Given the description of an element on the screen output the (x, y) to click on. 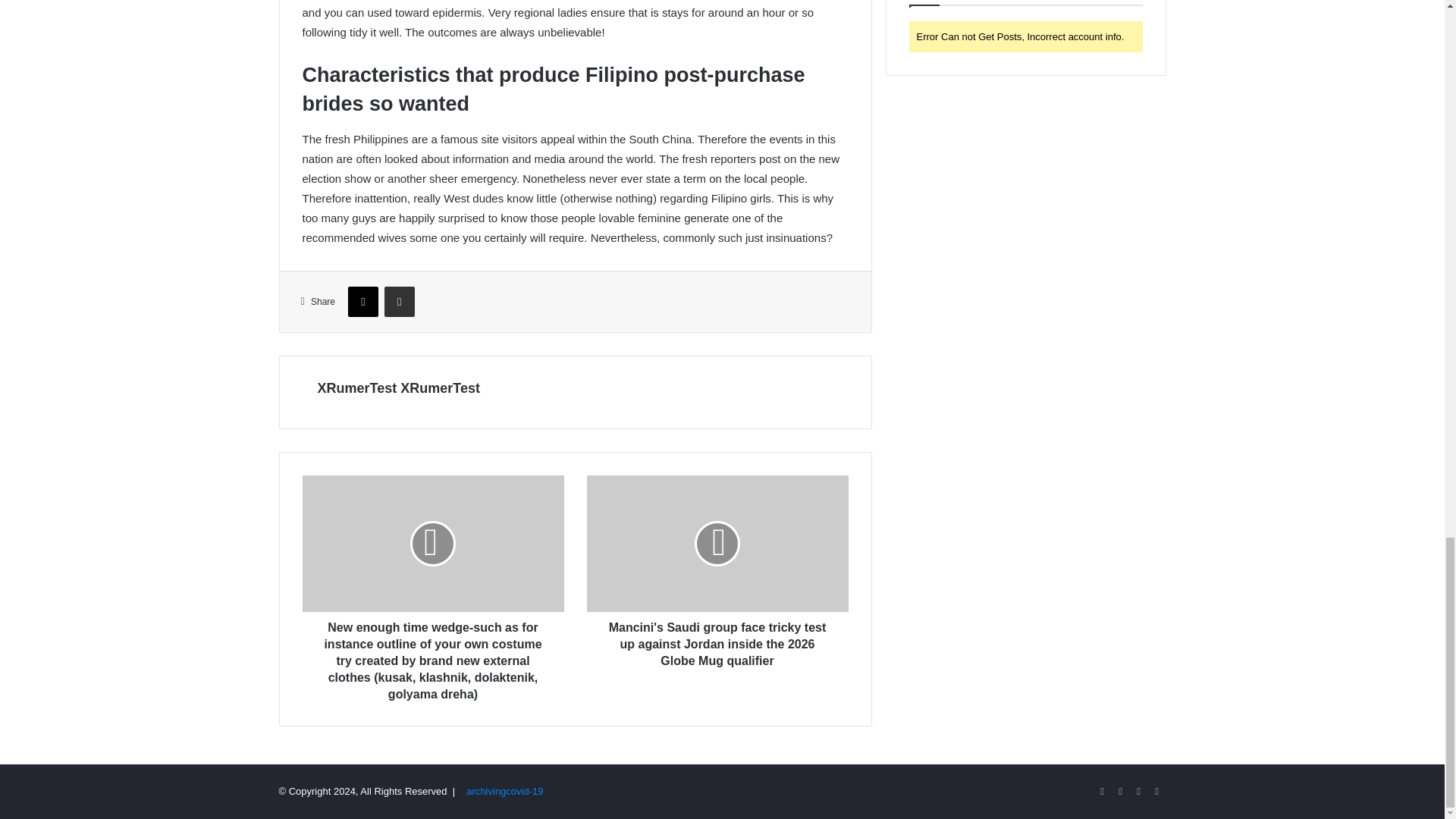
X (362, 301)
XRumerTest XRumerTest (398, 387)
Share via Email (399, 301)
Share via Email (399, 301)
X (362, 301)
